Given the description of an element on the screen output the (x, y) to click on. 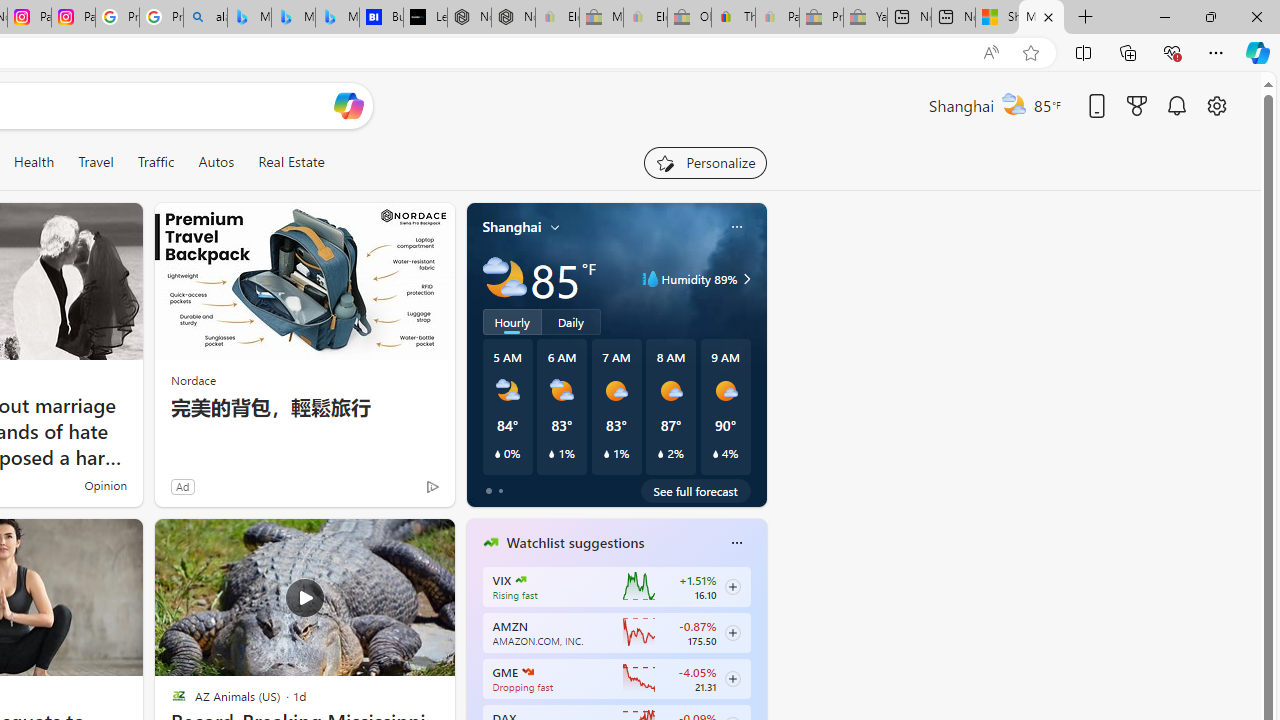
Daily (571, 321)
Microsoft Bing Travel - Flights from Hong Kong to Bangkok (249, 17)
alabama high school quarterback dies - Search (205, 17)
Partly cloudy (504, 278)
Yard, Garden & Outdoor Living - Sleeping (865, 17)
